Given the description of an element on the screen output the (x, y) to click on. 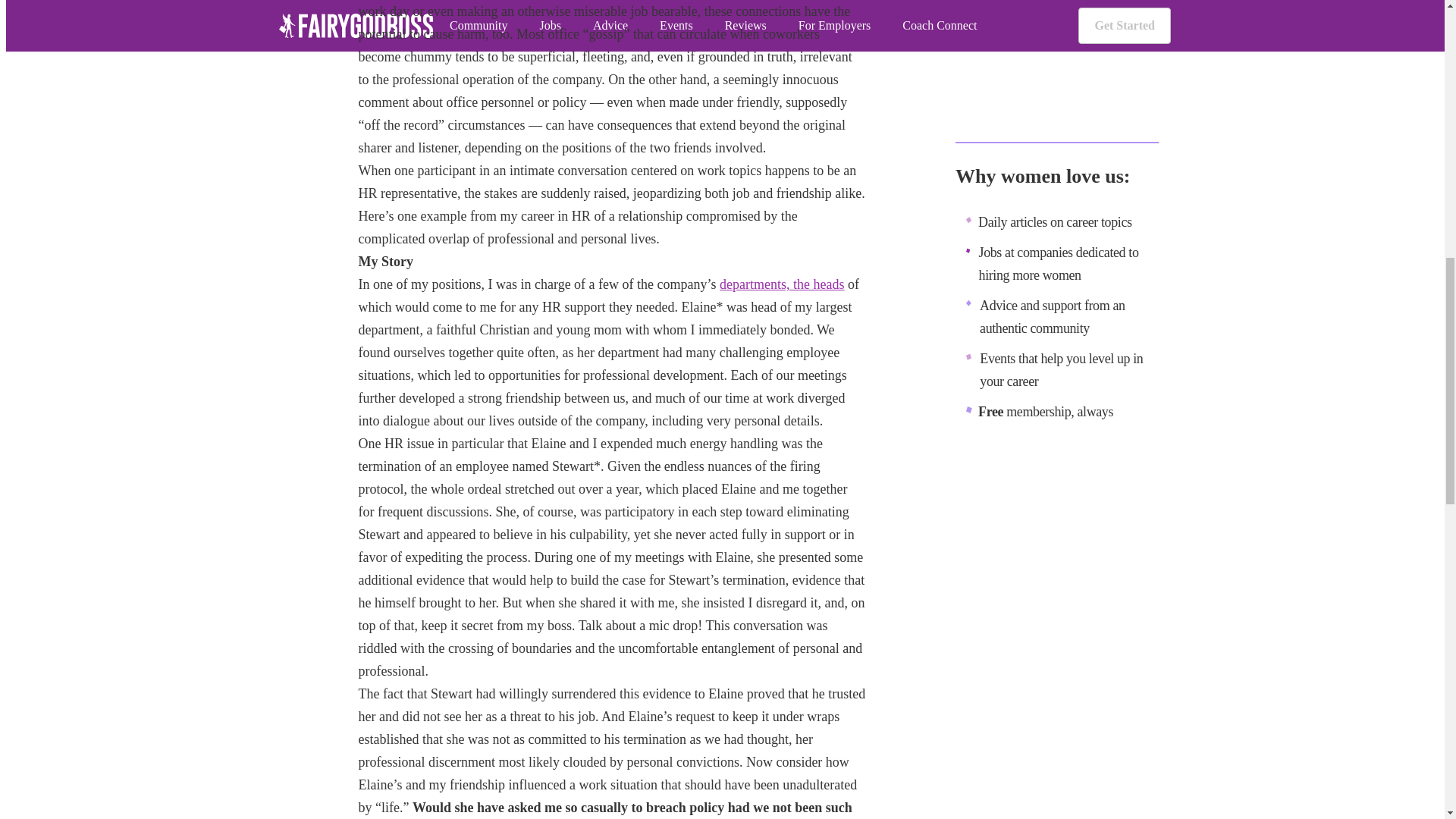
departments, the heads (781, 283)
